Given the description of an element on the screen output the (x, y) to click on. 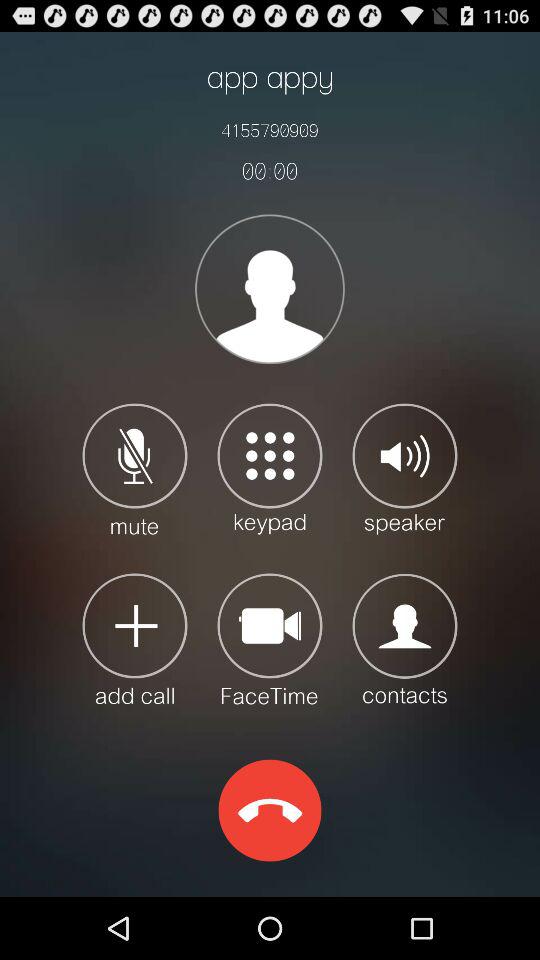
this button brings up the keypad (269, 468)
